Given the description of an element on the screen output the (x, y) to click on. 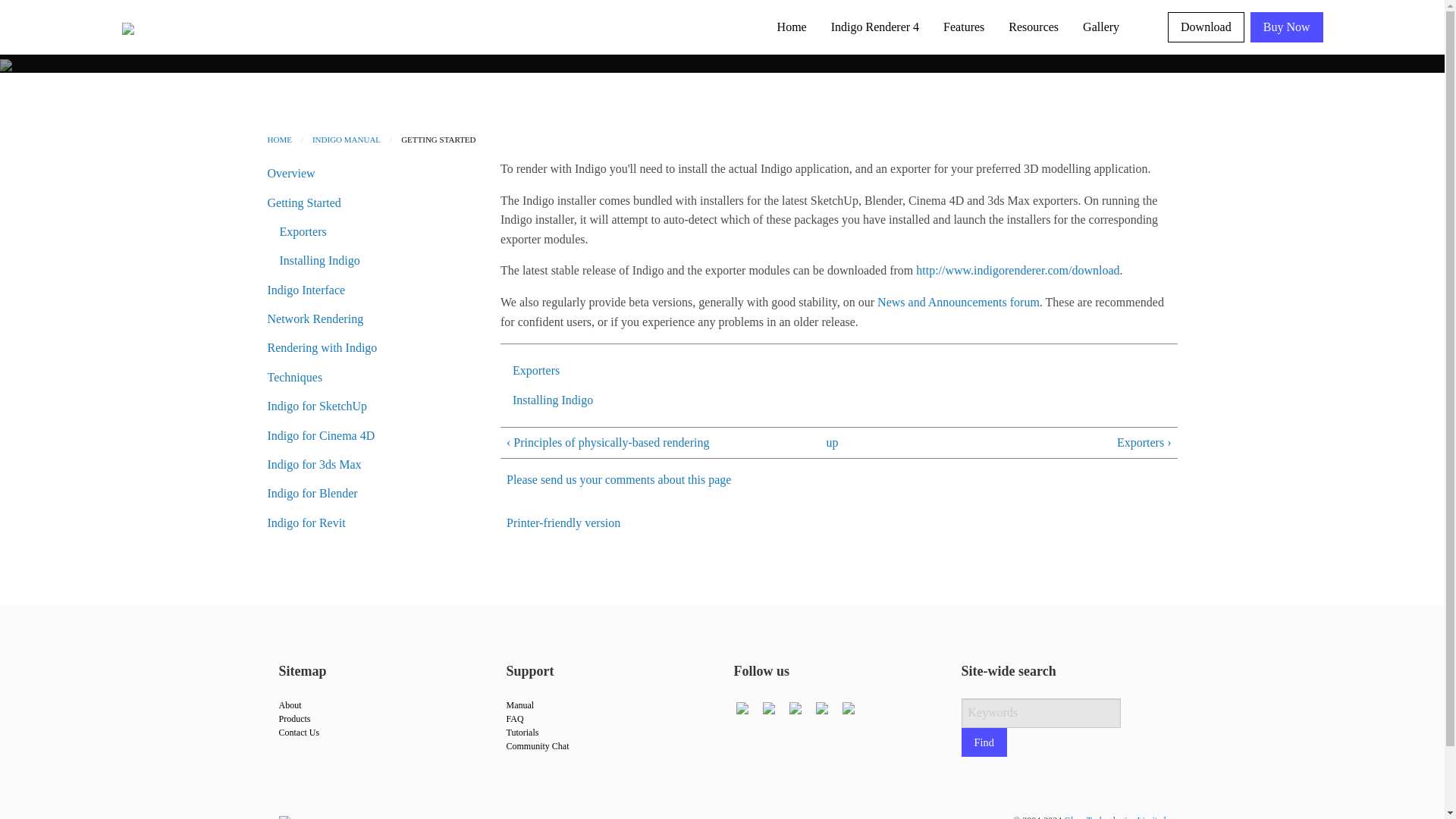
Features (963, 27)
Features (963, 27)
Indigo Renderer 4 (874, 27)
Home (791, 27)
Resources (1032, 27)
Home (791, 27)
Indigo Renderer 4 (874, 27)
